Given the description of an element on the screen output the (x, y) to click on. 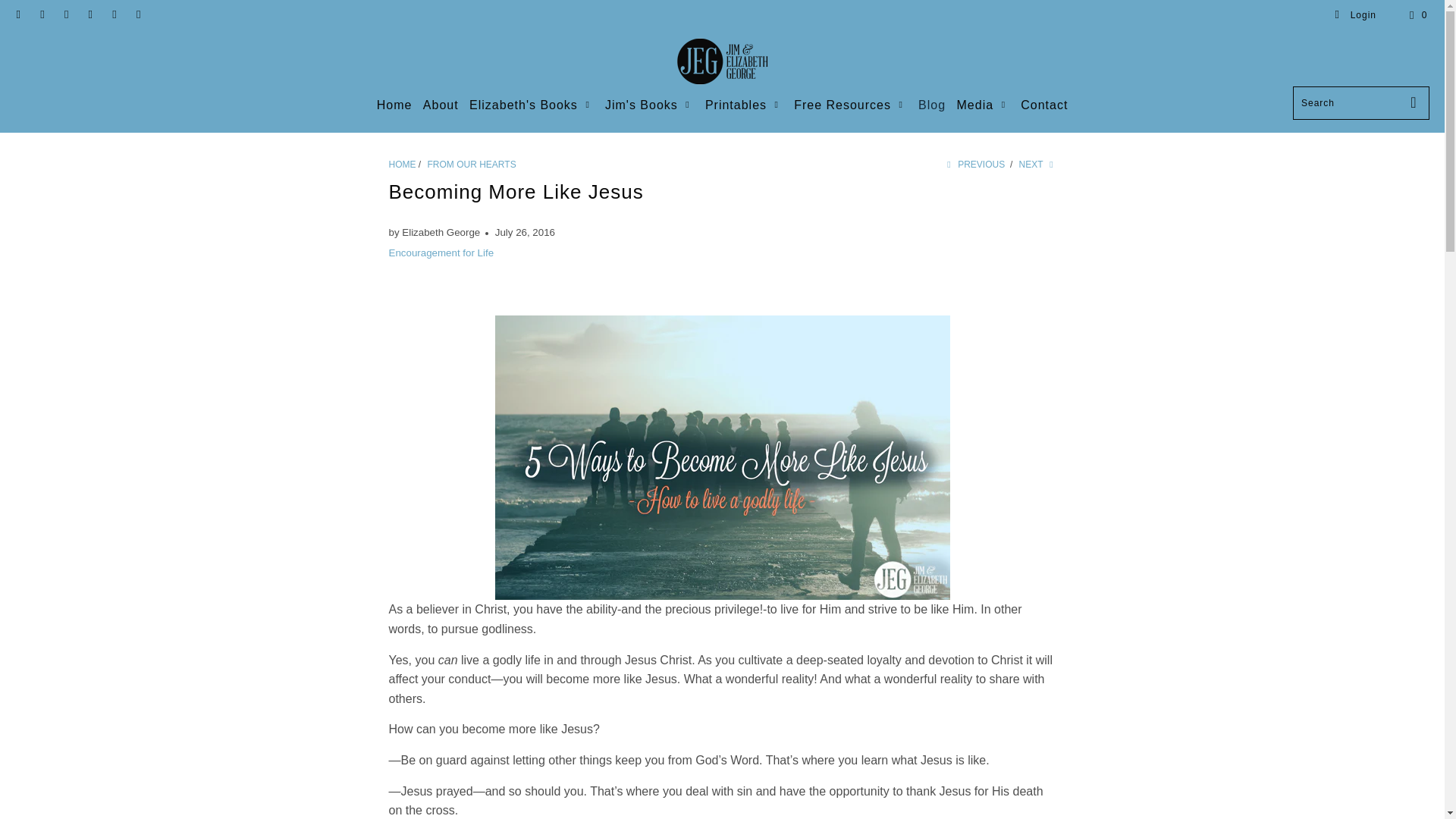
Elizabeth George on YouTube (65, 14)
My Account  (1355, 15)
Elizabeth George on Pinterest (89, 14)
From Our Hearts tagged Encouragement for Life (440, 252)
Email Elizabeth George (138, 14)
From Our Hearts (472, 163)
Elizabeth George on Facebook (41, 14)
Elizabeth George on Twitter (17, 14)
Elizabeth George (401, 163)
Elizabeth George (722, 61)
